Given the description of an element on the screen output the (x, y) to click on. 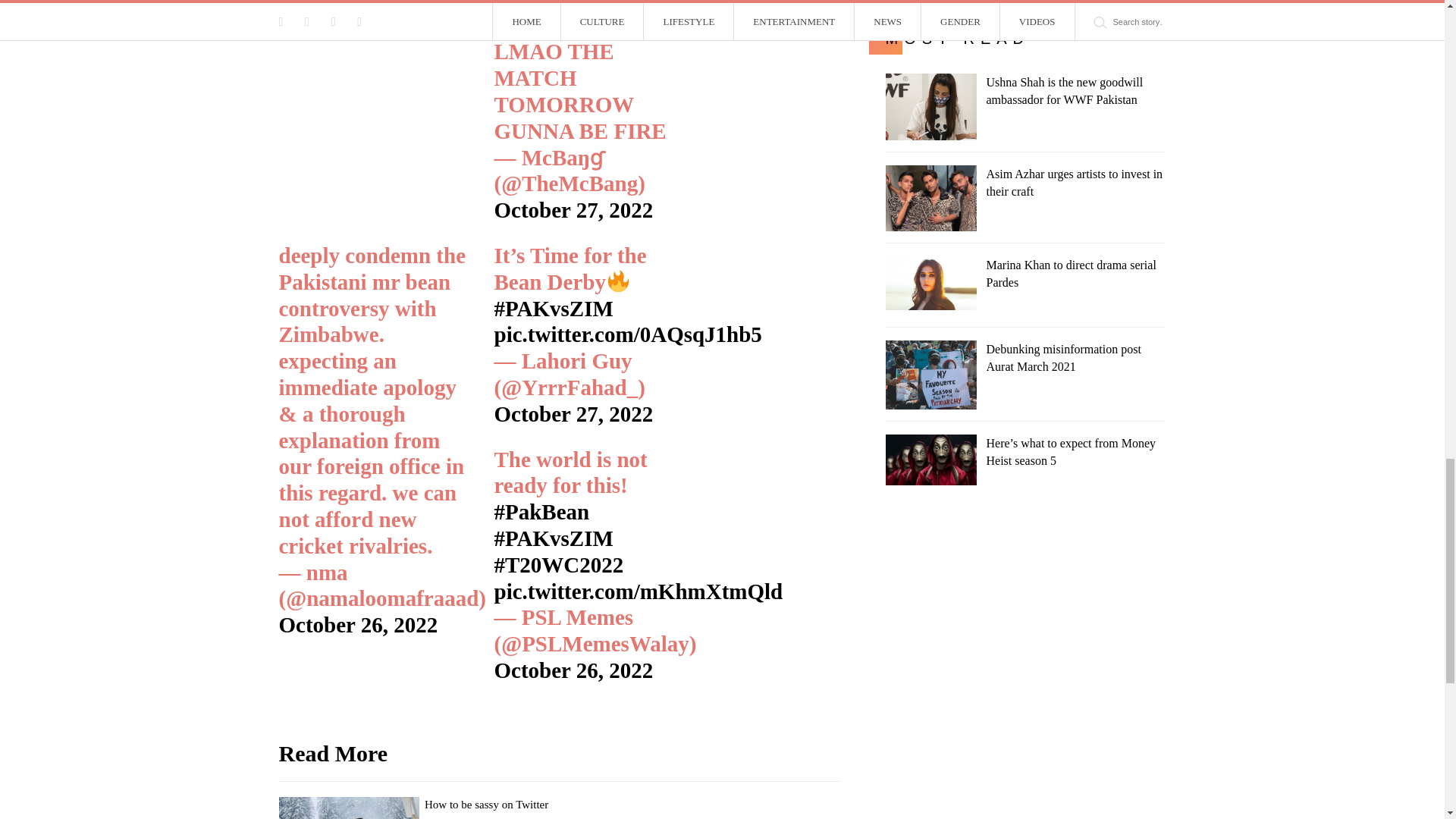
October 27, 2022 (574, 209)
October 26, 2022 (574, 670)
October 27, 2022 (574, 413)
Permanent Link to How to be sassy on Twitter (486, 804)
October 26, 2022 (358, 624)
